Given the description of an element on the screen output the (x, y) to click on. 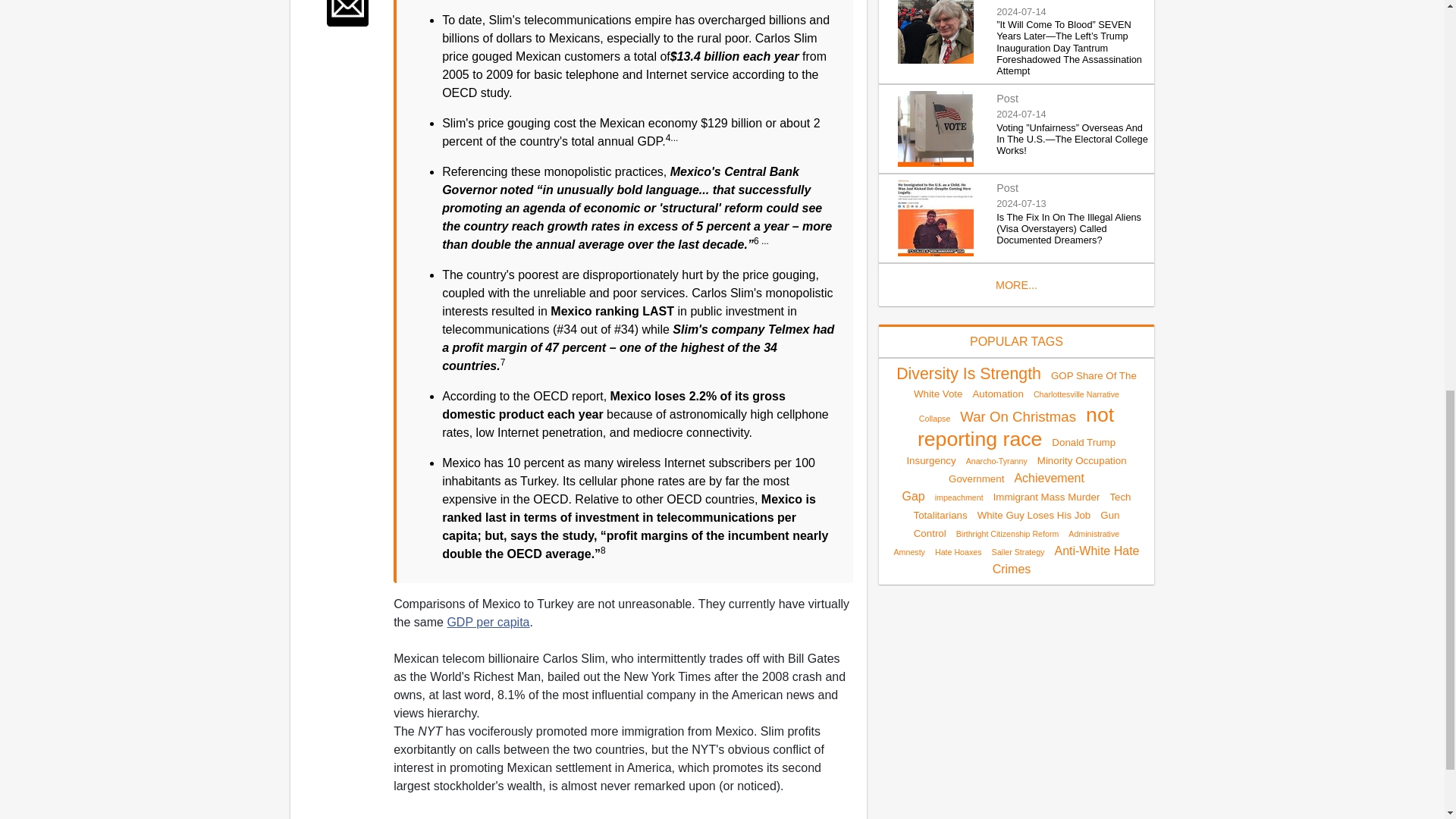
Share to Email (347, 13)
